Given the description of an element on the screen output the (x, y) to click on. 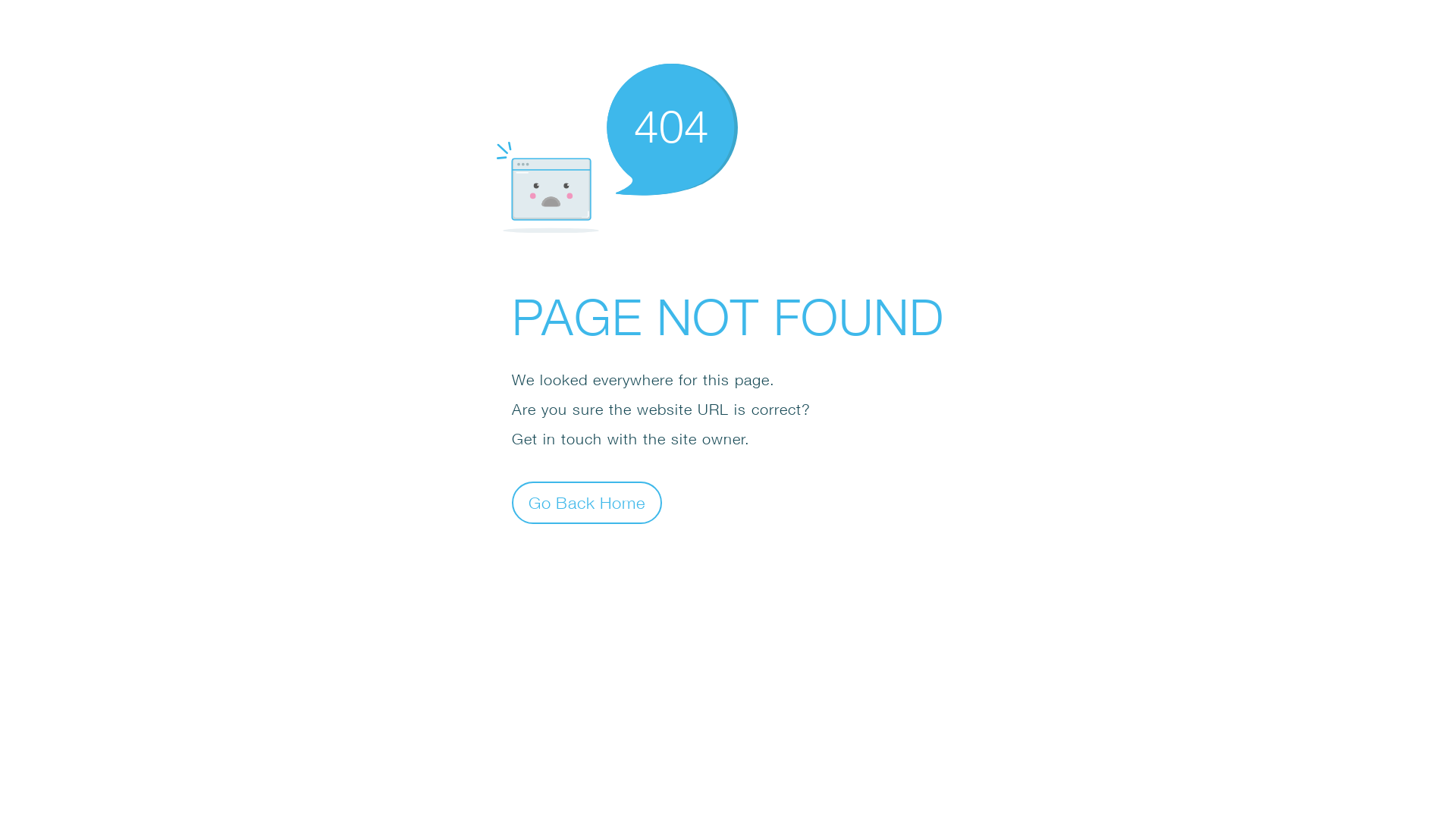
Go Back Home Element type: text (586, 502)
